Given the description of an element on the screen output the (x, y) to click on. 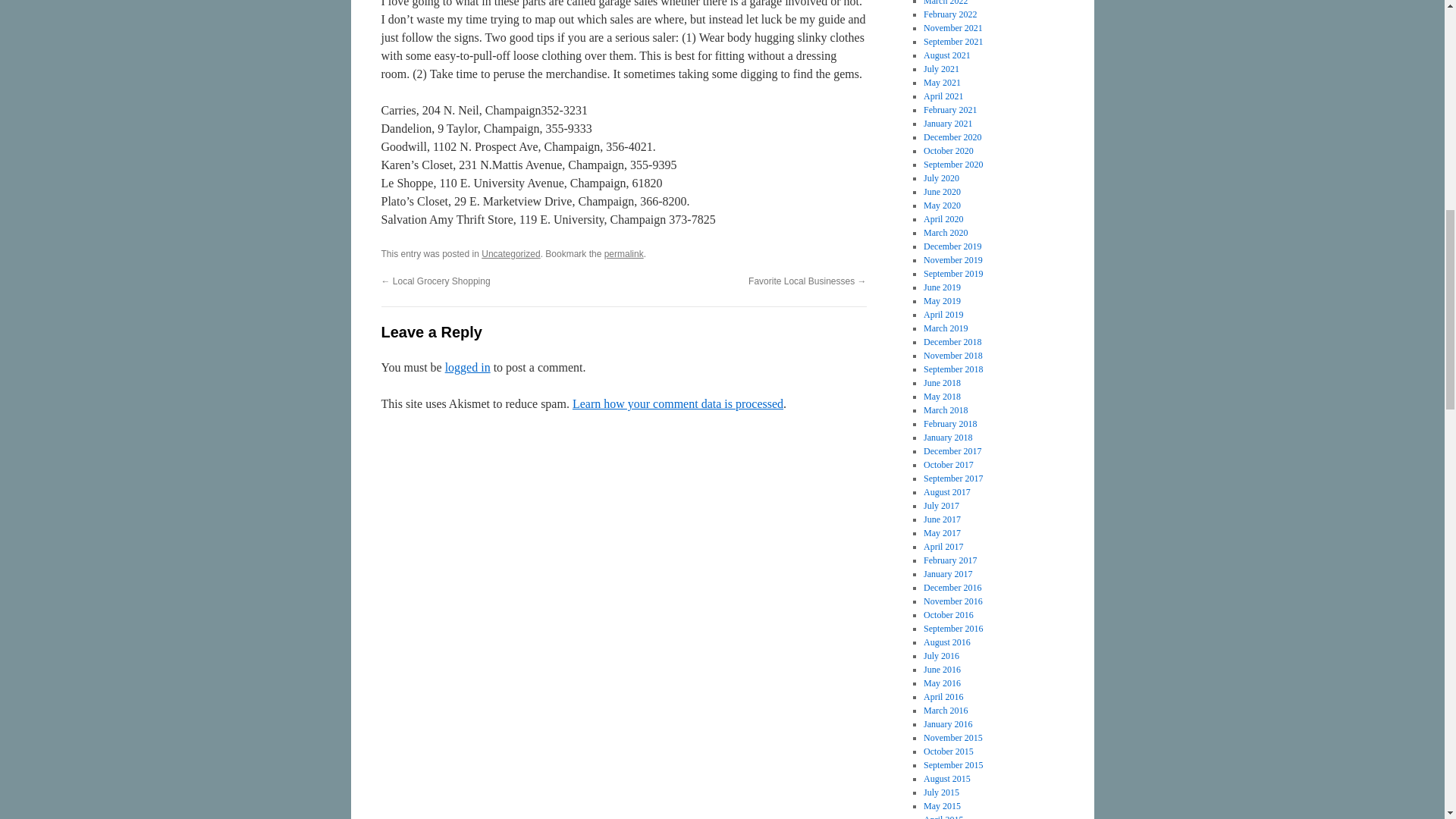
Permalink to Where in the World did you get that Jacket? (623, 253)
logged in (467, 367)
permalink (623, 253)
Uncategorized (510, 253)
Learn how your comment data is processed (677, 403)
